Given the description of an element on the screen output the (x, y) to click on. 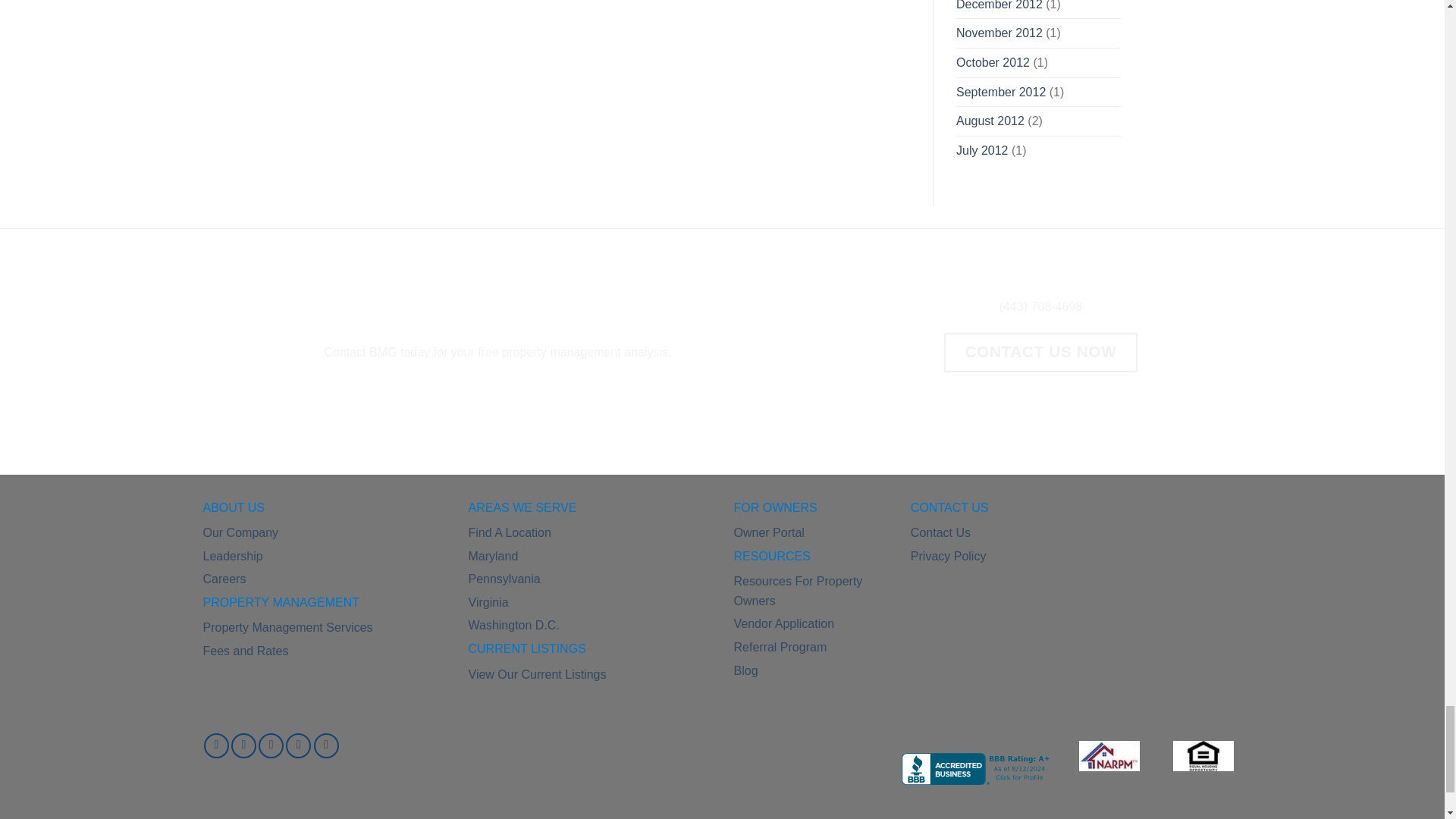
Follow on Instagram (243, 745)
Follow on Facebook (215, 745)
Follow on Twitter (271, 745)
Follow on YouTube (326, 745)
Follow on LinkedIn (298, 745)
